Given the description of an element on the screen output the (x, y) to click on. 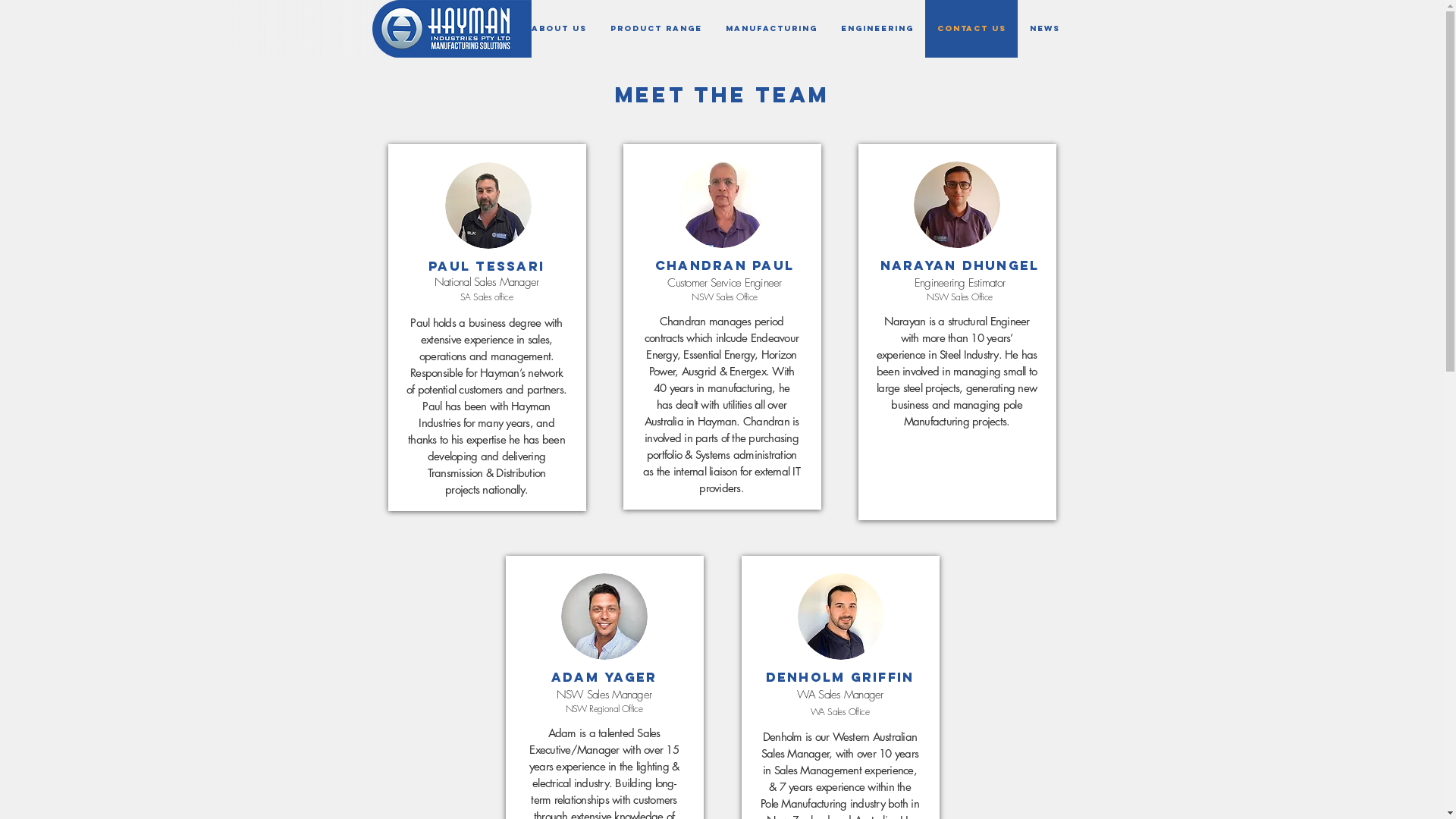
PRODUCT RANGE Element type: text (654, 28)
MANUFACTURING Element type: text (770, 28)
CONTACT US Element type: text (971, 28)
ABOUT US Element type: text (557, 28)
ENGINEERING Element type: text (876, 28)
NEWS Element type: text (1044, 28)
